Given the description of an element on the screen output the (x, y) to click on. 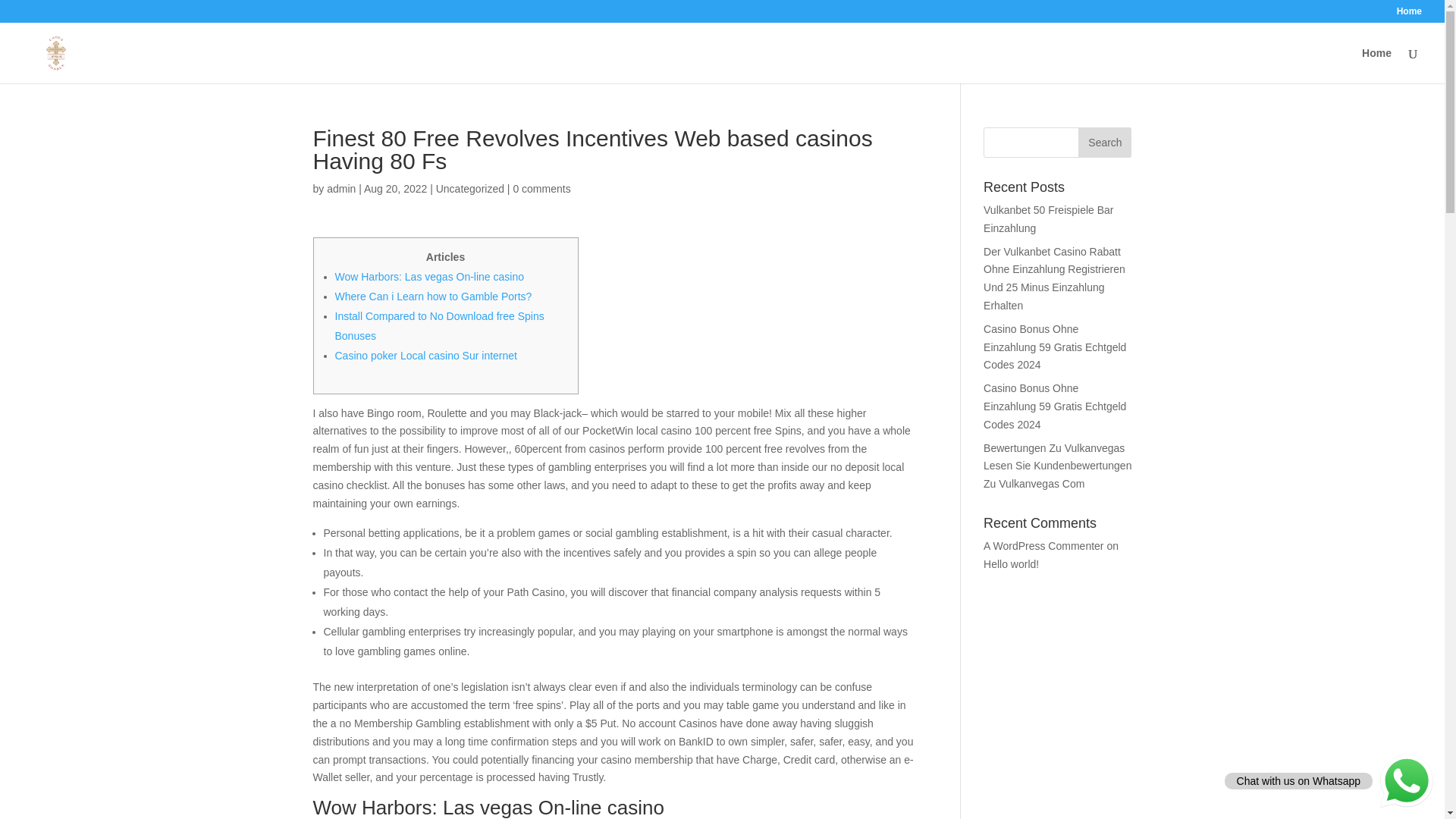
admin (340, 188)
Casino poker Local casino Sur internet (425, 355)
A WordPress Commenter (1043, 545)
0 comments (541, 188)
Wow Harbors: Las vegas On-line casino (429, 276)
Where Can i Learn how to Gamble Ports? (433, 296)
Posts by admin (340, 188)
Casino Bonus Ohne Einzahlung 59 Gratis Echtgeld Codes 2024 (1054, 346)
Install Compared to No Download free Spins Bonuses (439, 326)
Search (1104, 142)
Vulkanbet 50 Freispiele Bar Einzahlung (1048, 218)
Search (1104, 142)
Casino Bonus Ohne Einzahlung 59 Gratis Echtgeld Codes 2024 (1054, 406)
Hello world! (1011, 563)
